Given the description of an element on the screen output the (x, y) to click on. 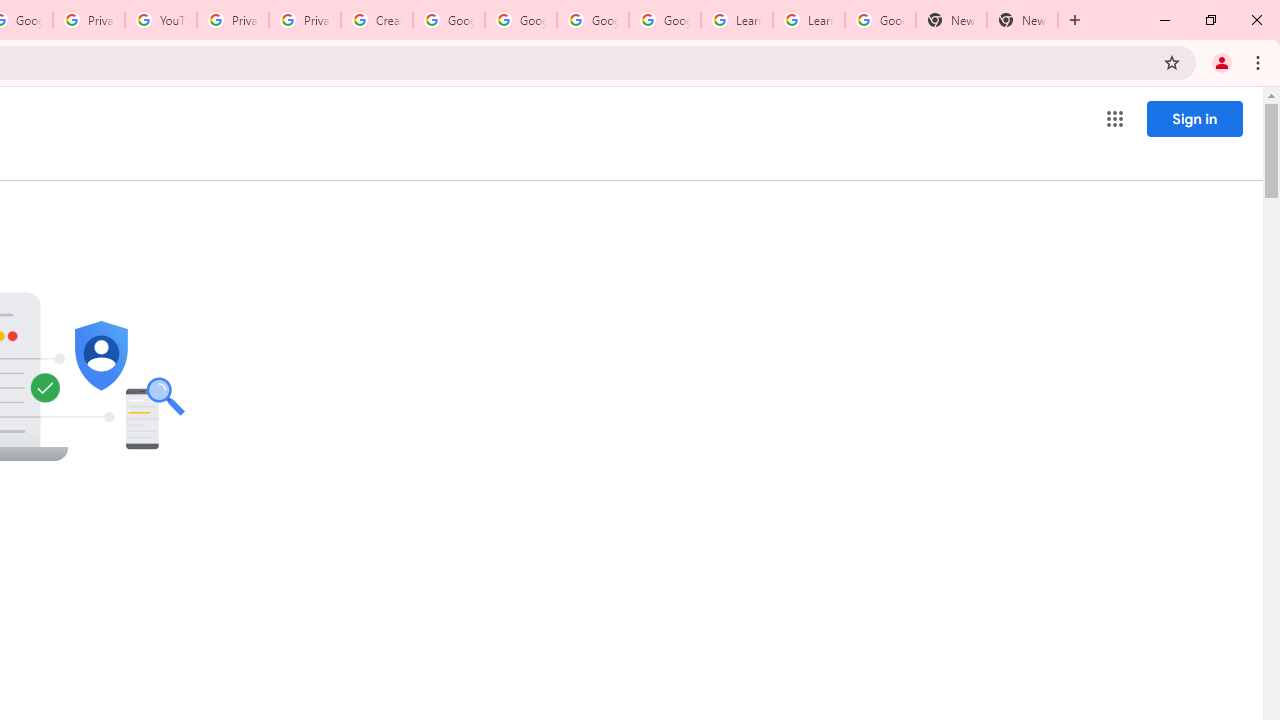
Create your Google Account (376, 20)
YouTube (161, 20)
